Given the description of an element on the screen output the (x, y) to click on. 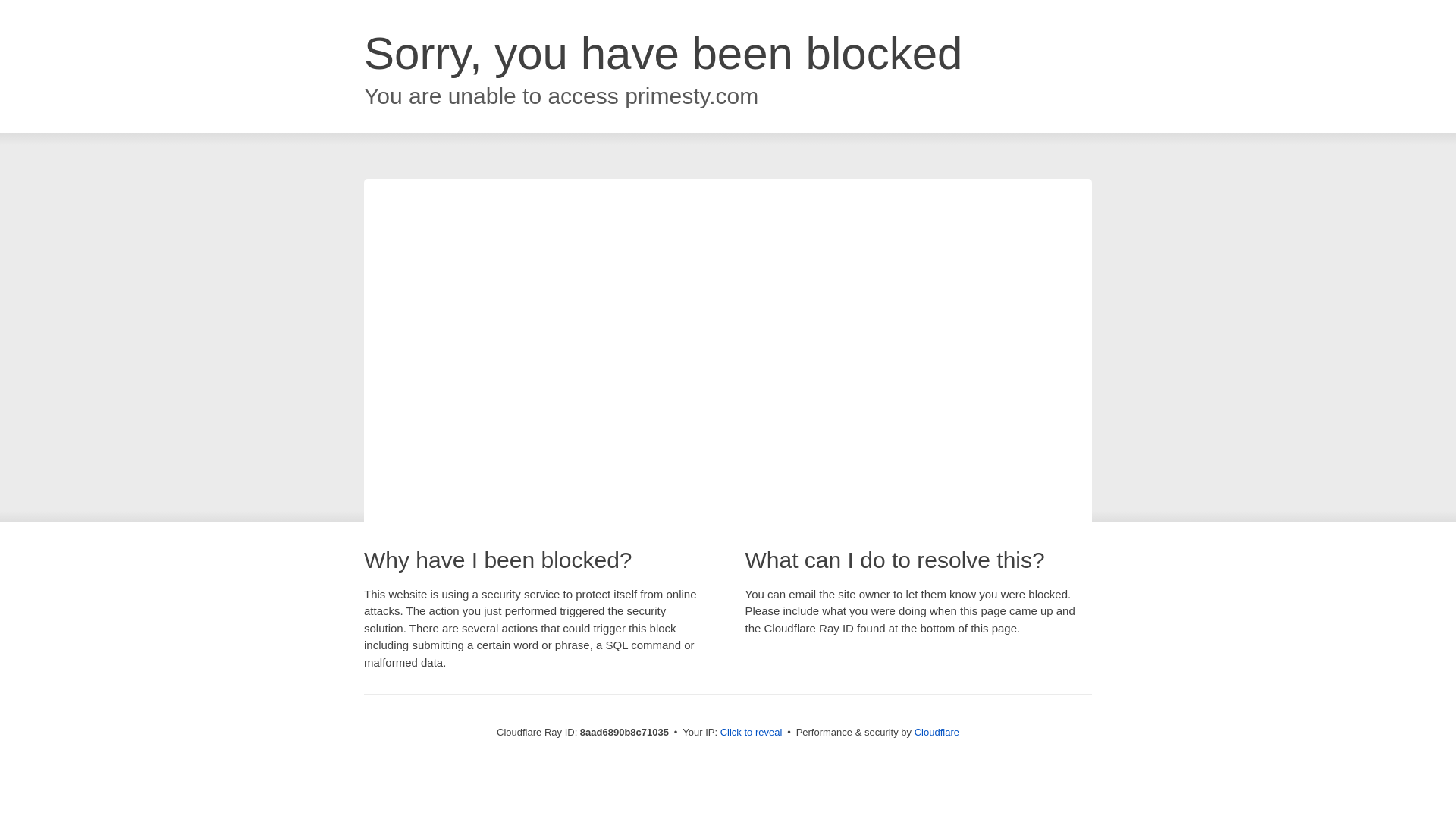
Click to reveal (751, 732)
Cloudflare (936, 731)
